Given the description of an element on the screen output the (x, y) to click on. 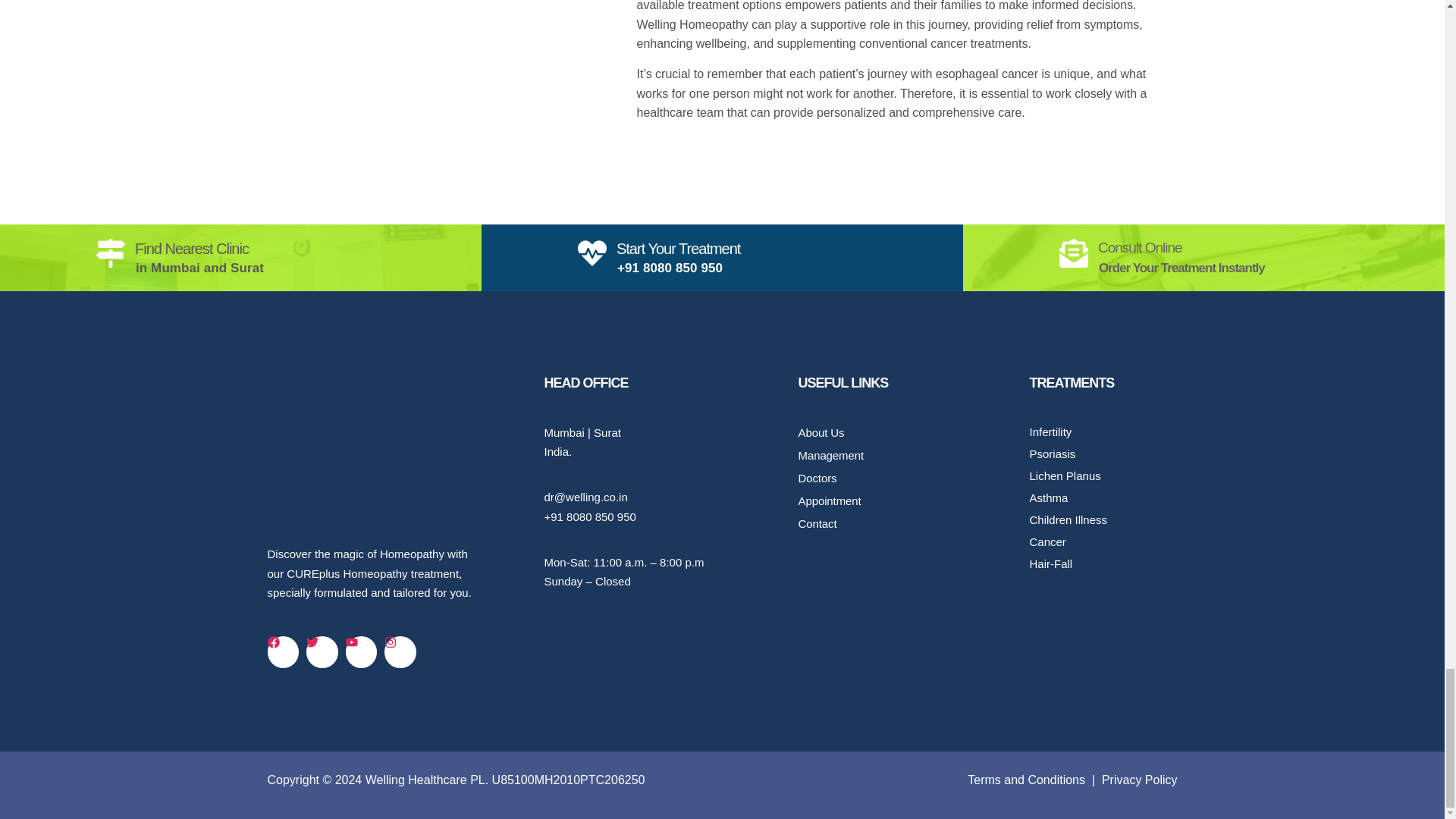
Find Nearest Clinic (191, 248)
Start Your Treatment (677, 248)
Consult Online (1139, 247)
in Mumbai and Surat (199, 268)
Order Your Treatment Instantly (1182, 268)
